Given the description of an element on the screen output the (x, y) to click on. 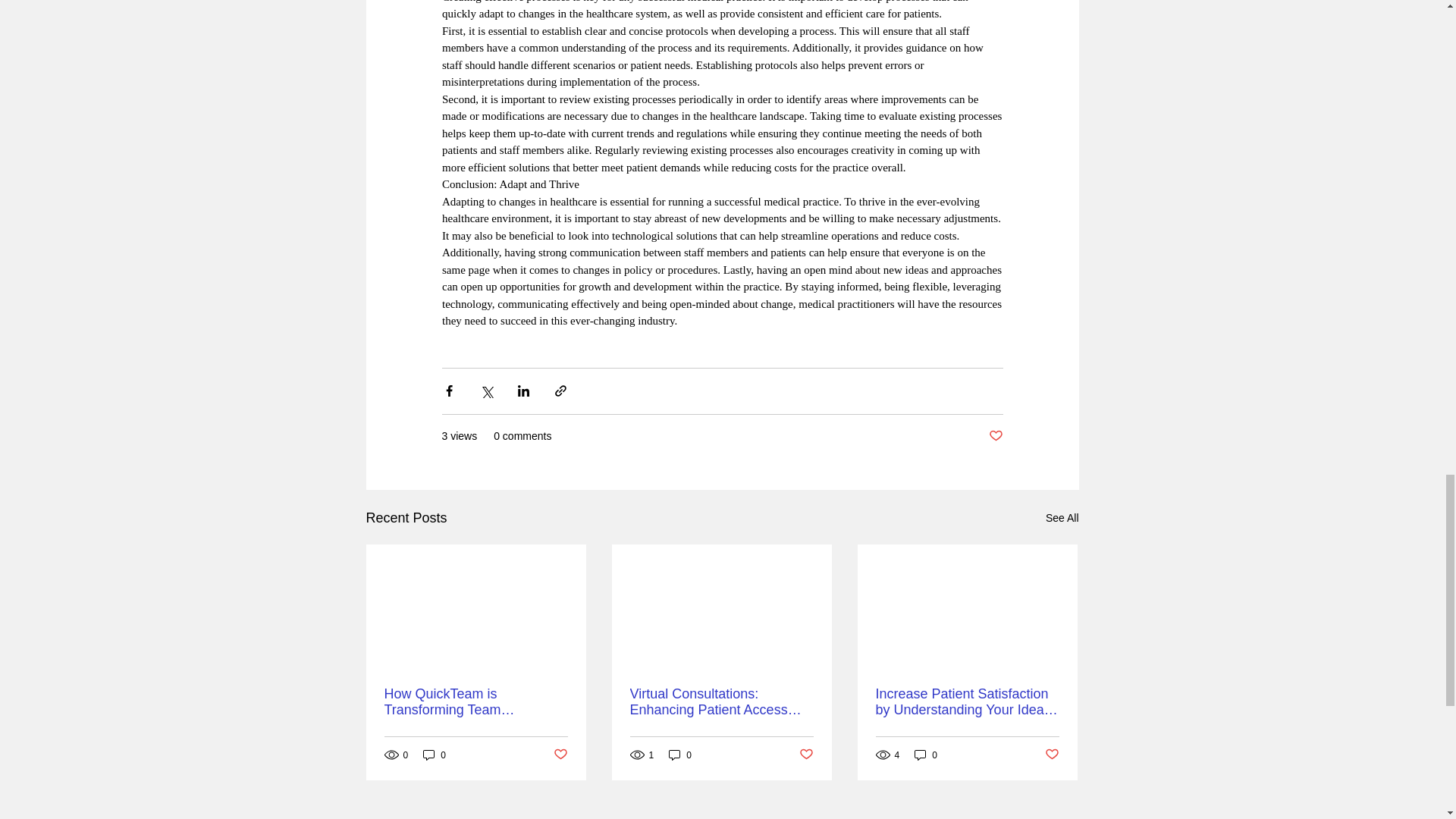
See All (1061, 517)
0 (679, 754)
Post not marked as liked (806, 754)
0 (434, 754)
Post not marked as liked (1052, 754)
Post not marked as liked (560, 754)
Post not marked as liked (995, 435)
